Given the description of an element on the screen output the (x, y) to click on. 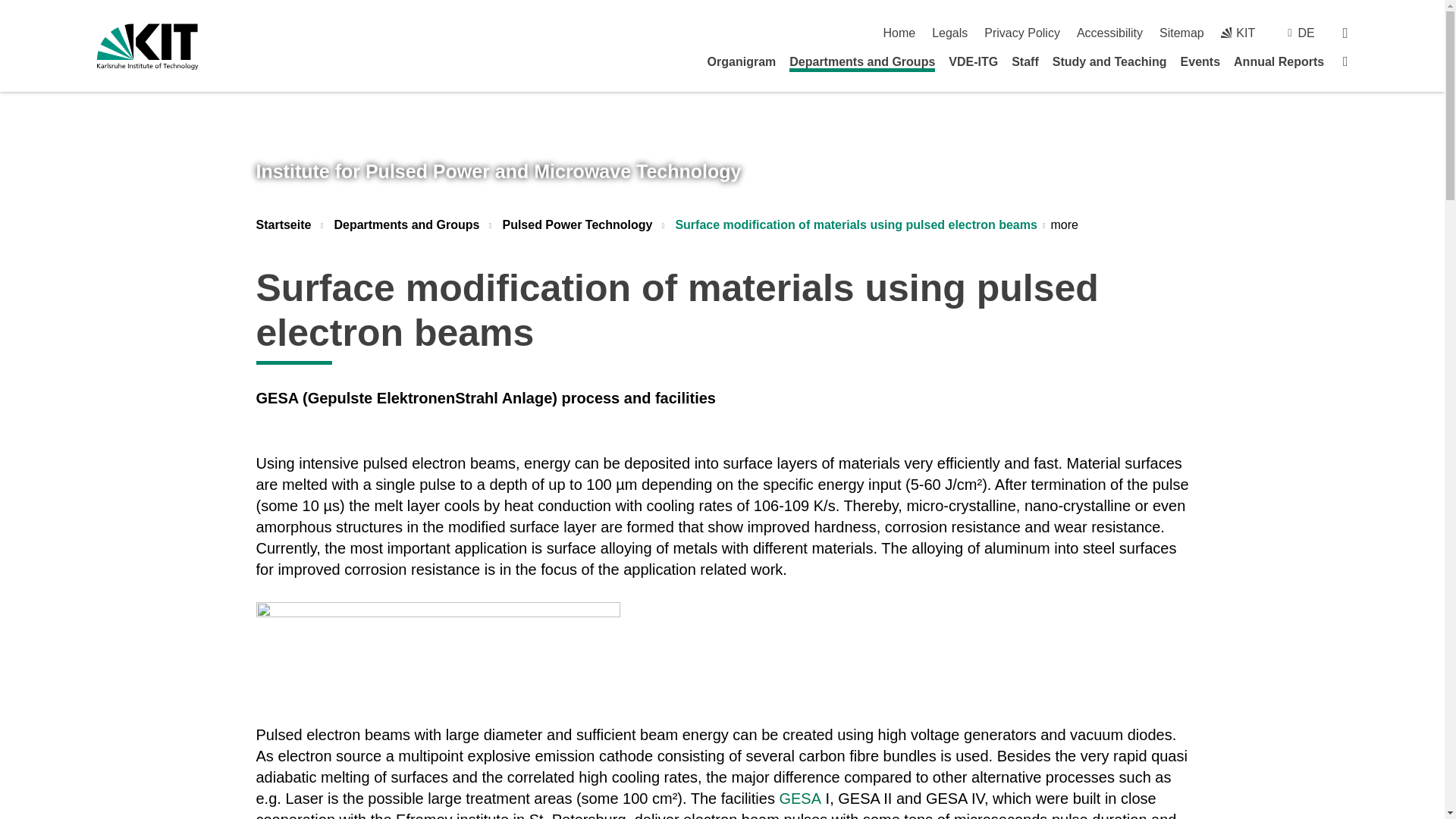
KIT-Homepage (1238, 32)
Accessibility (1109, 32)
Institute for Pulsed Power and Microwave Technology (498, 171)
KIT-Homepage (147, 46)
DE (1305, 32)
Departments and Groups (861, 63)
Sitemap (1181, 32)
Legals (949, 32)
Home (898, 32)
